Given the description of an element on the screen output the (x, y) to click on. 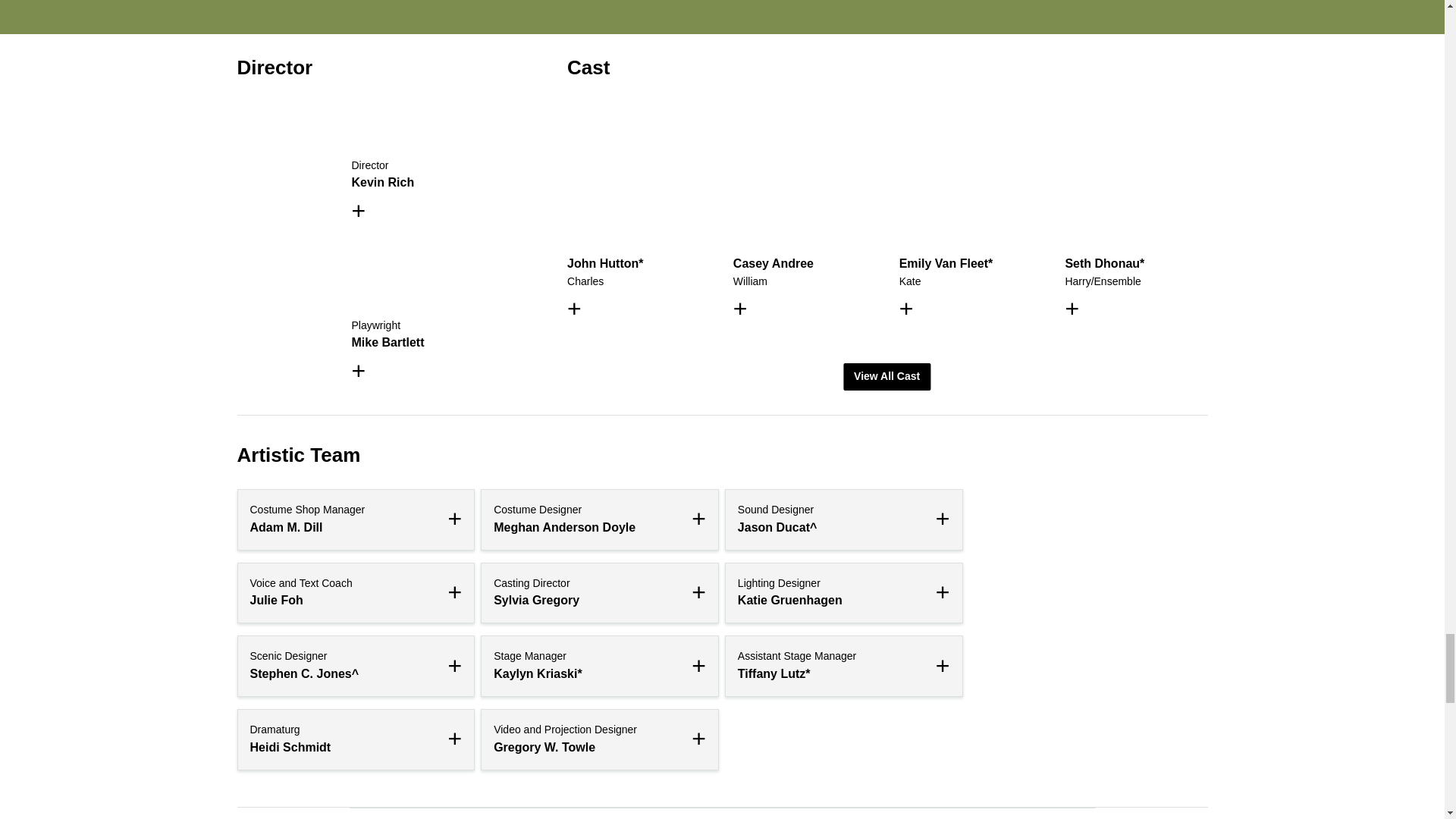
Read full profile (390, 168)
Read full profile (390, 328)
